Given the description of an element on the screen output the (x, y) to click on. 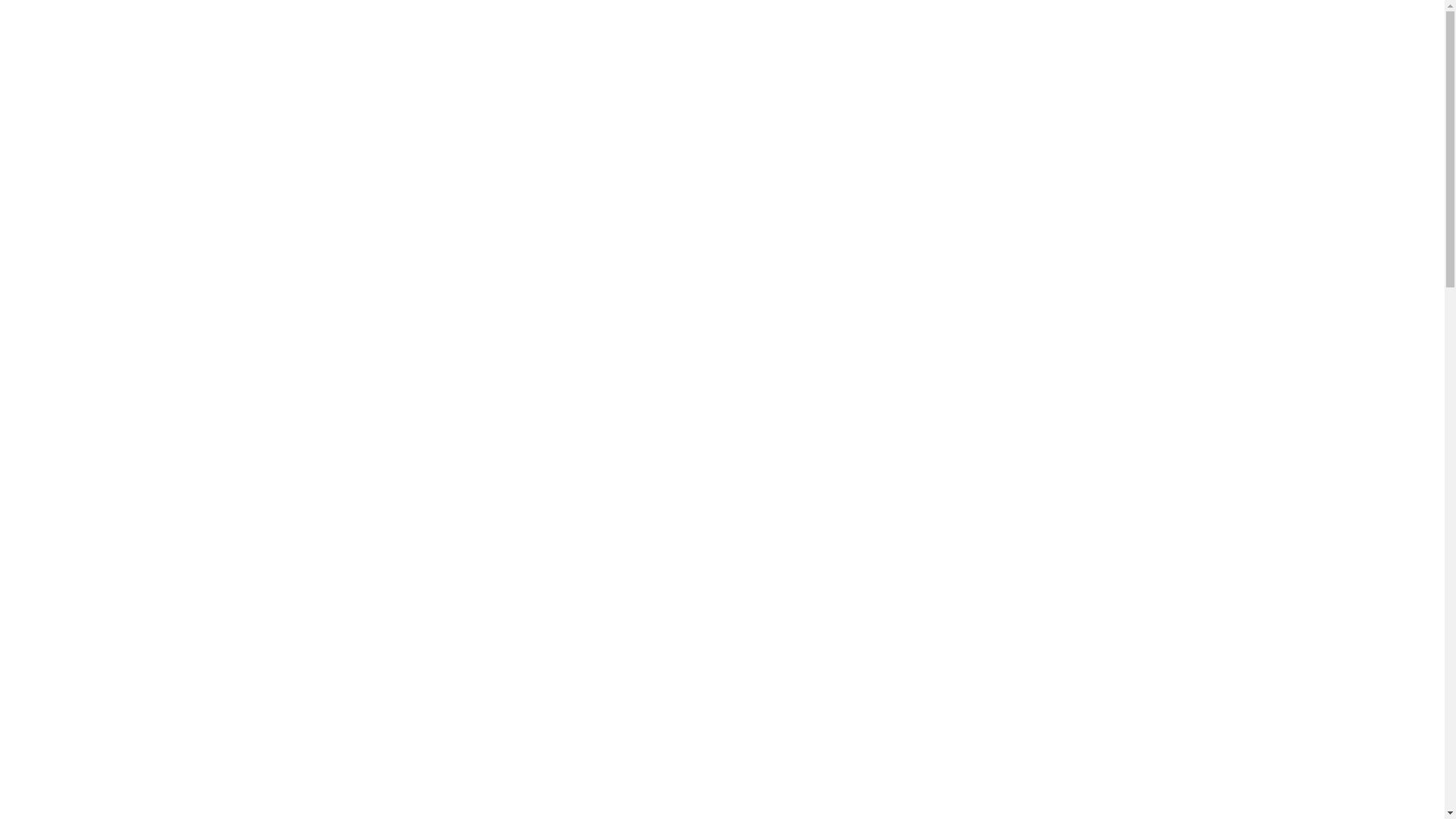
Producten Element type: text (817, 33)
Over ons Element type: text (637, 33)
Offerte aanvragen Element type: text (938, 33)
Diensten Element type: text (721, 33)
Contact Element type: text (1043, 33)
